Given the description of an element on the screen output the (x, y) to click on. 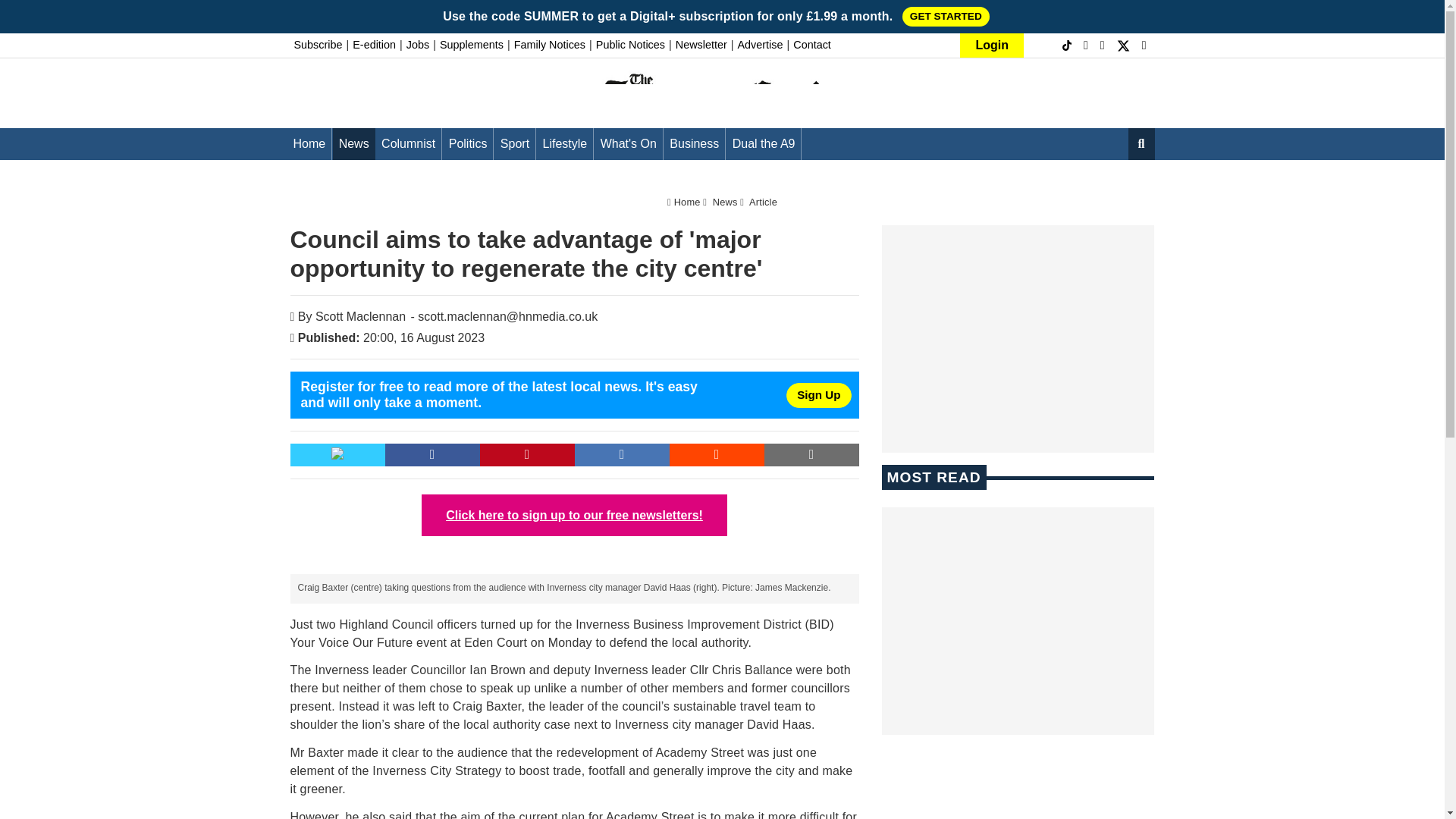
GET STARTED (946, 16)
